Given the description of an element on the screen output the (x, y) to click on. 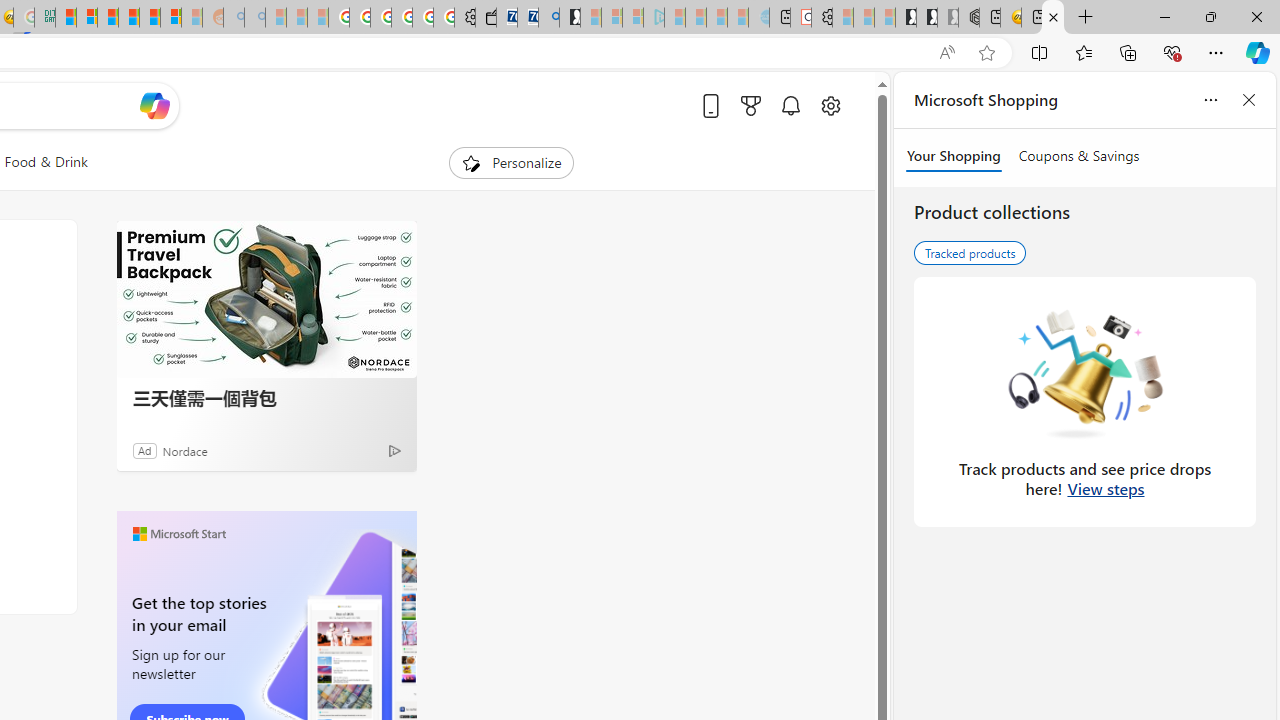
Cheap Car Rentals - Save70.com (527, 17)
MSNBC - MSN (65, 17)
Bing Real Estate - Home sales and rental listings (548, 17)
